Given the description of an element on the screen output the (x, y) to click on. 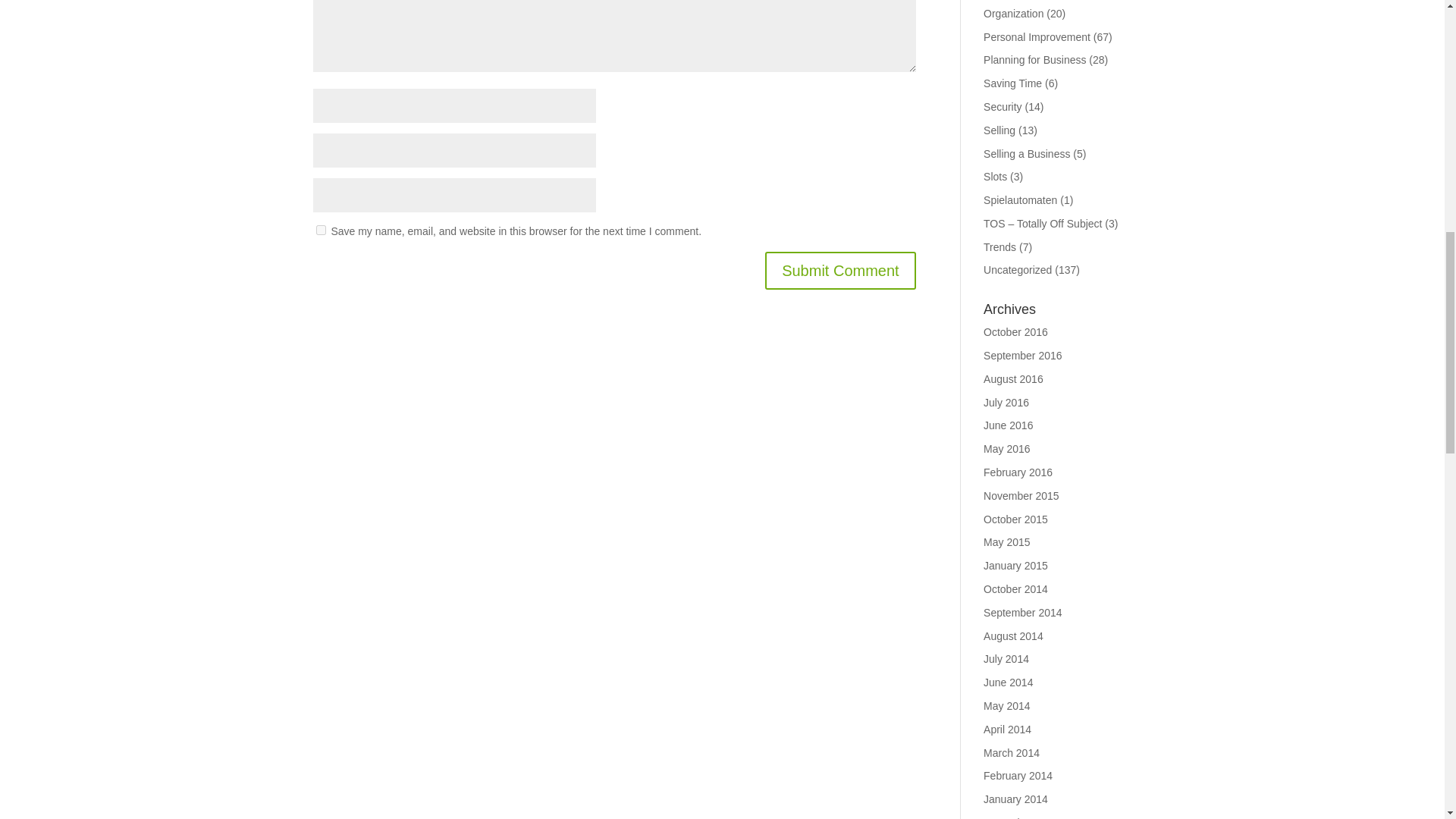
Submit Comment (840, 270)
yes (319, 230)
Submit Comment (840, 270)
